Given the description of an element on the screen output the (x, y) to click on. 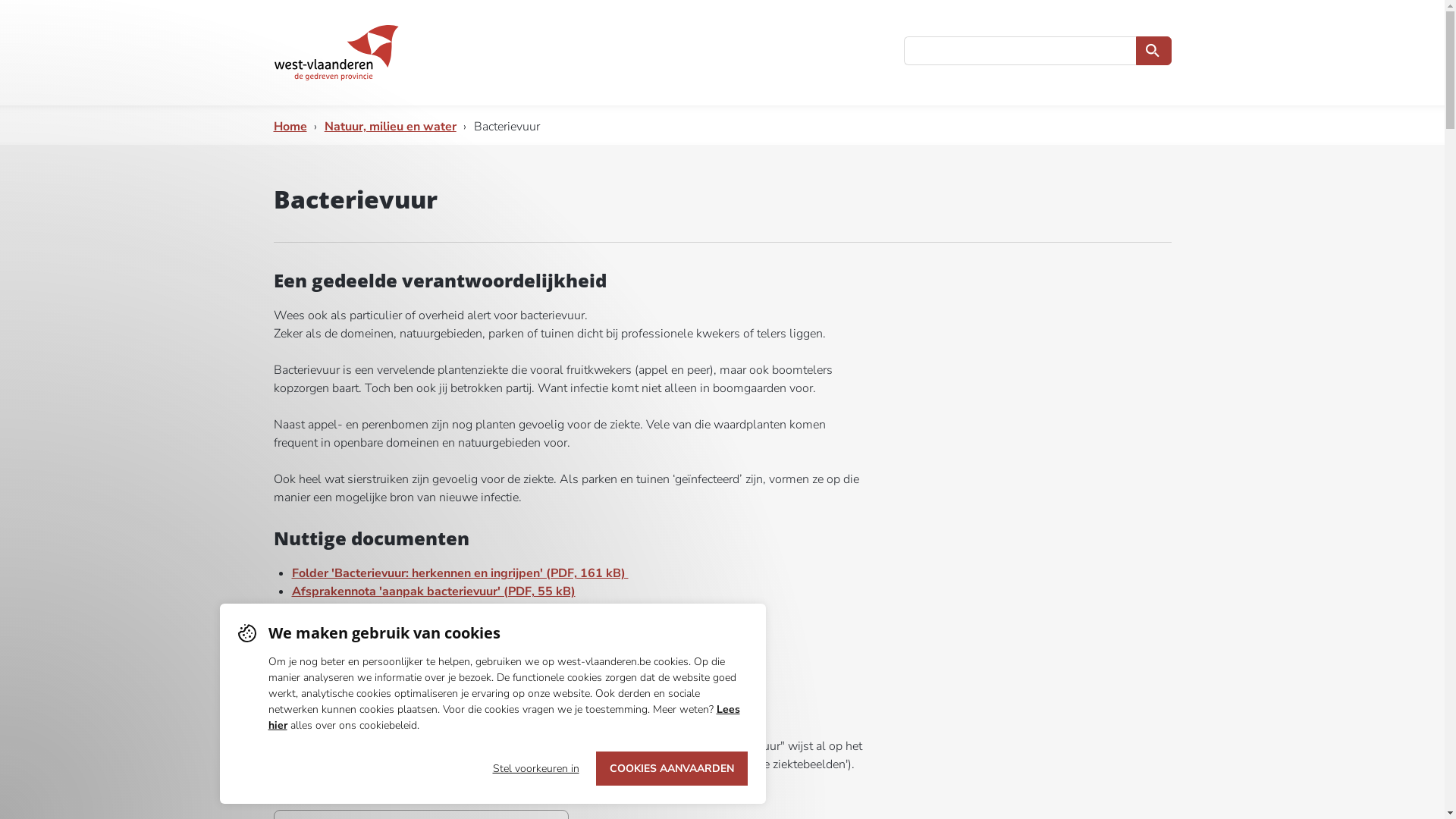
Lijst bacterievuurgevoeligheid bij appel (PDF, 102 kB) Element type: text (443, 645)
Natuur, milieu en water Element type: text (390, 126)
Afsprakennota 'aanpak bacterievuur' (PDF, 55 kB) Element type: text (432, 591)
Lijst bacterievuurgevoeligheid bij peer (PDF, 106 kB) Element type: text (440, 663)
Home Element type: text (289, 126)
COOKIES AANVAARDEN Element type: text (671, 768)
Stel voorkeuren in Element type: text (536, 768)
Folder 'Bacterievuur: herkennen en ingrijpen' (PDF, 161 kB)  Element type: text (459, 572)
Lees hier Element type: text (504, 717)
Toepassen Element type: text (1152, 50)
Home Element type: hover (335, 52)
